Given the description of an element on the screen output the (x, y) to click on. 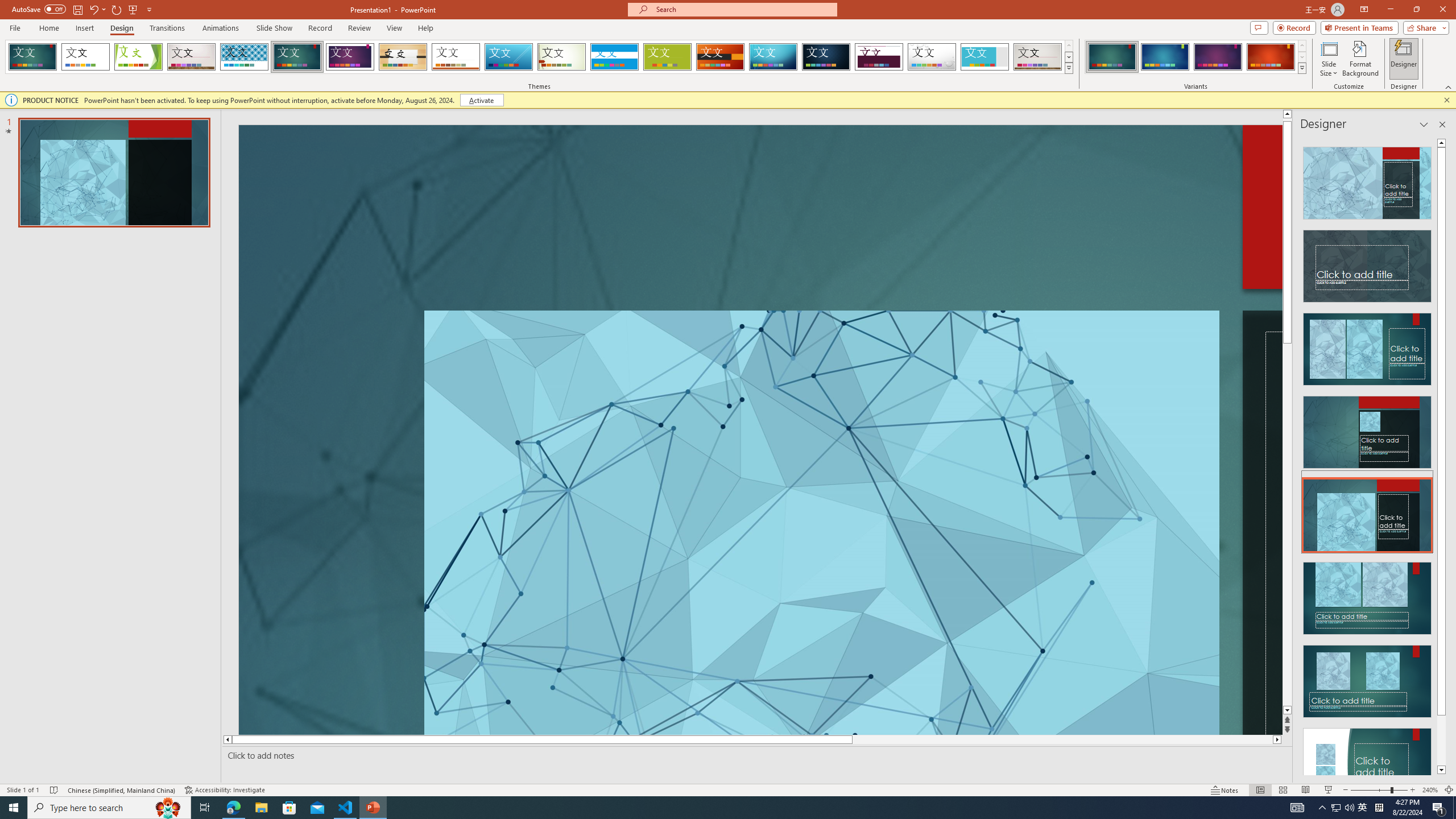
Organic (403, 56)
FadeVTI (32, 56)
Banded (614, 56)
Ion Variant 2 (1164, 56)
Ion Variant 3 (1217, 56)
